Given the description of an element on the screen output the (x, y) to click on. 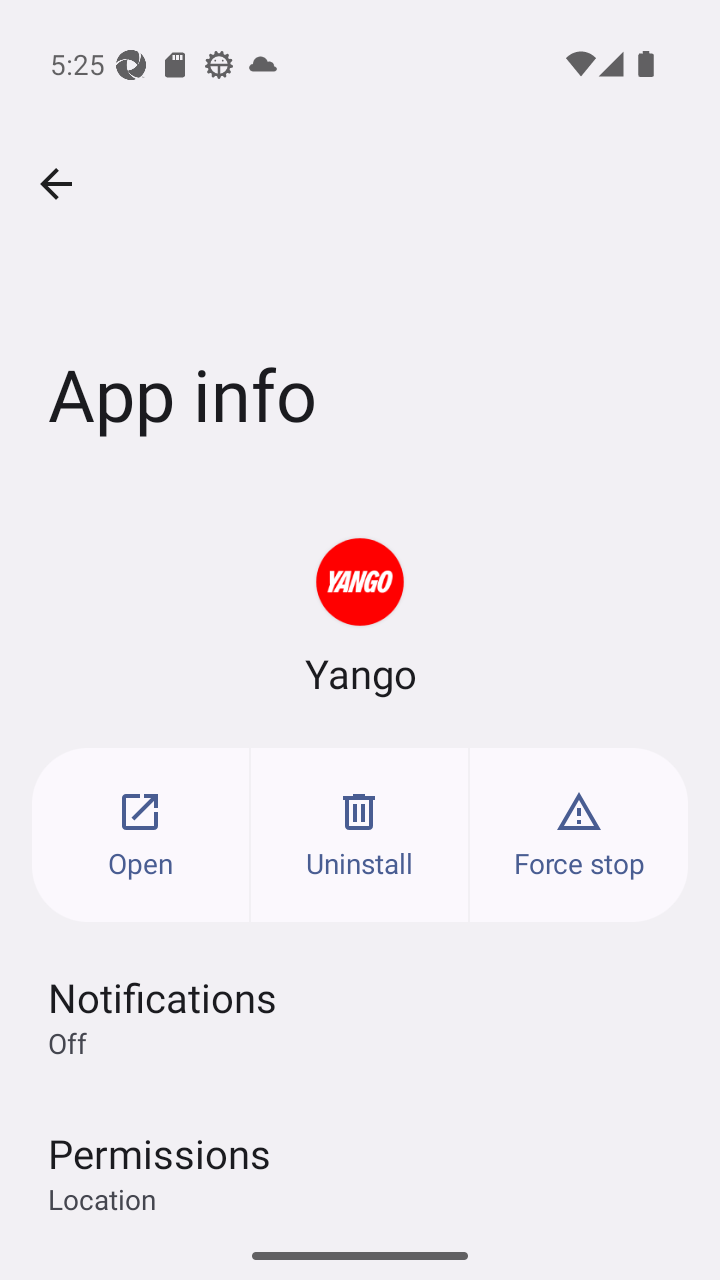
Navigate up (56, 184)
Open (140, 834)
Uninstall (359, 834)
Force stop (579, 834)
Notifications Off (360, 1016)
Permissions Location (360, 1162)
